Given the description of an element on the screen output the (x, y) to click on. 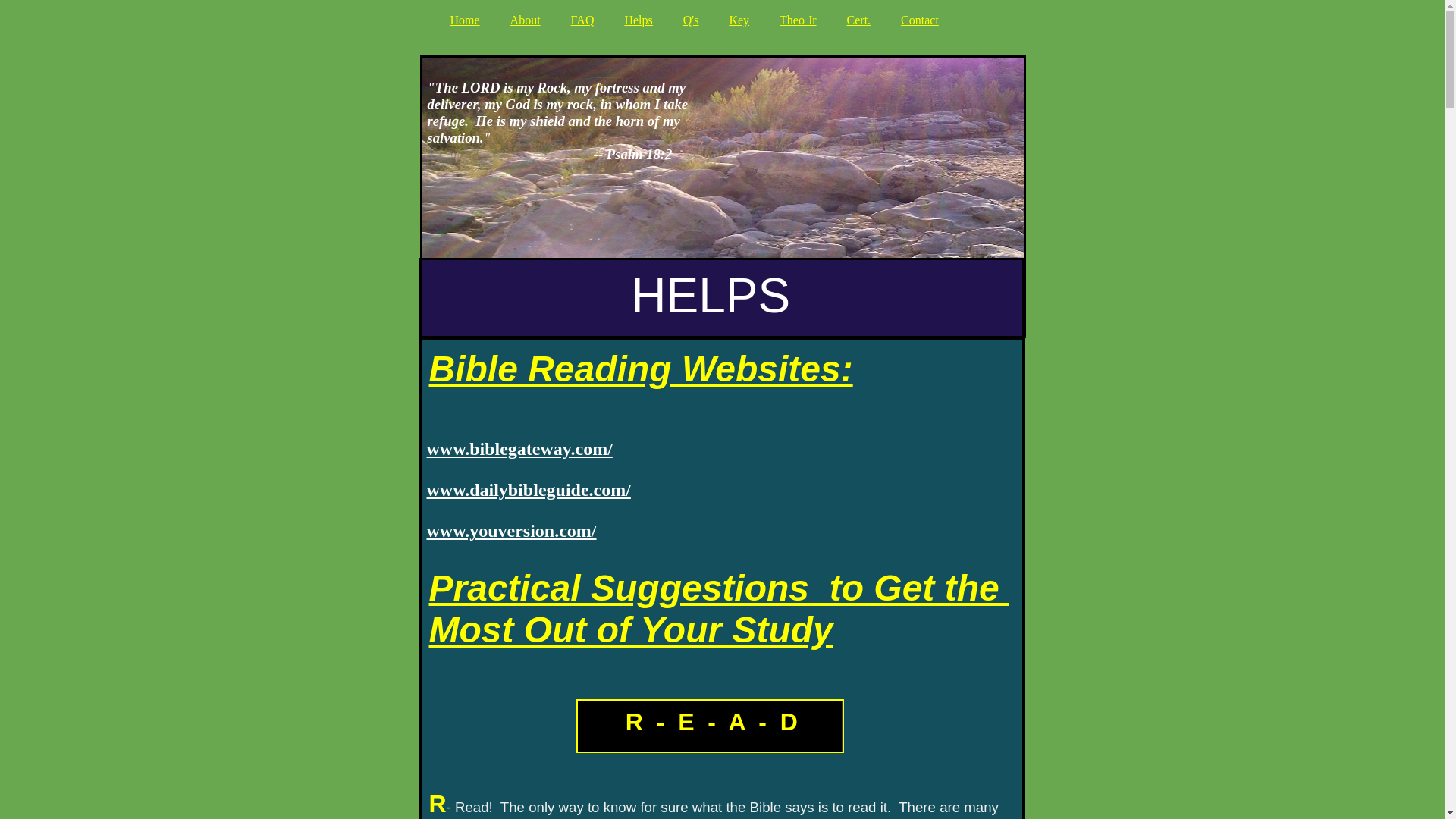
Cert. (863, 19)
Key (742, 19)
Q's (694, 19)
Home (468, 19)
Contact (923, 19)
Helps (640, 19)
About (529, 19)
FAQ (586, 19)
Theo Jr (801, 19)
